Given the description of an element on the screen output the (x, y) to click on. 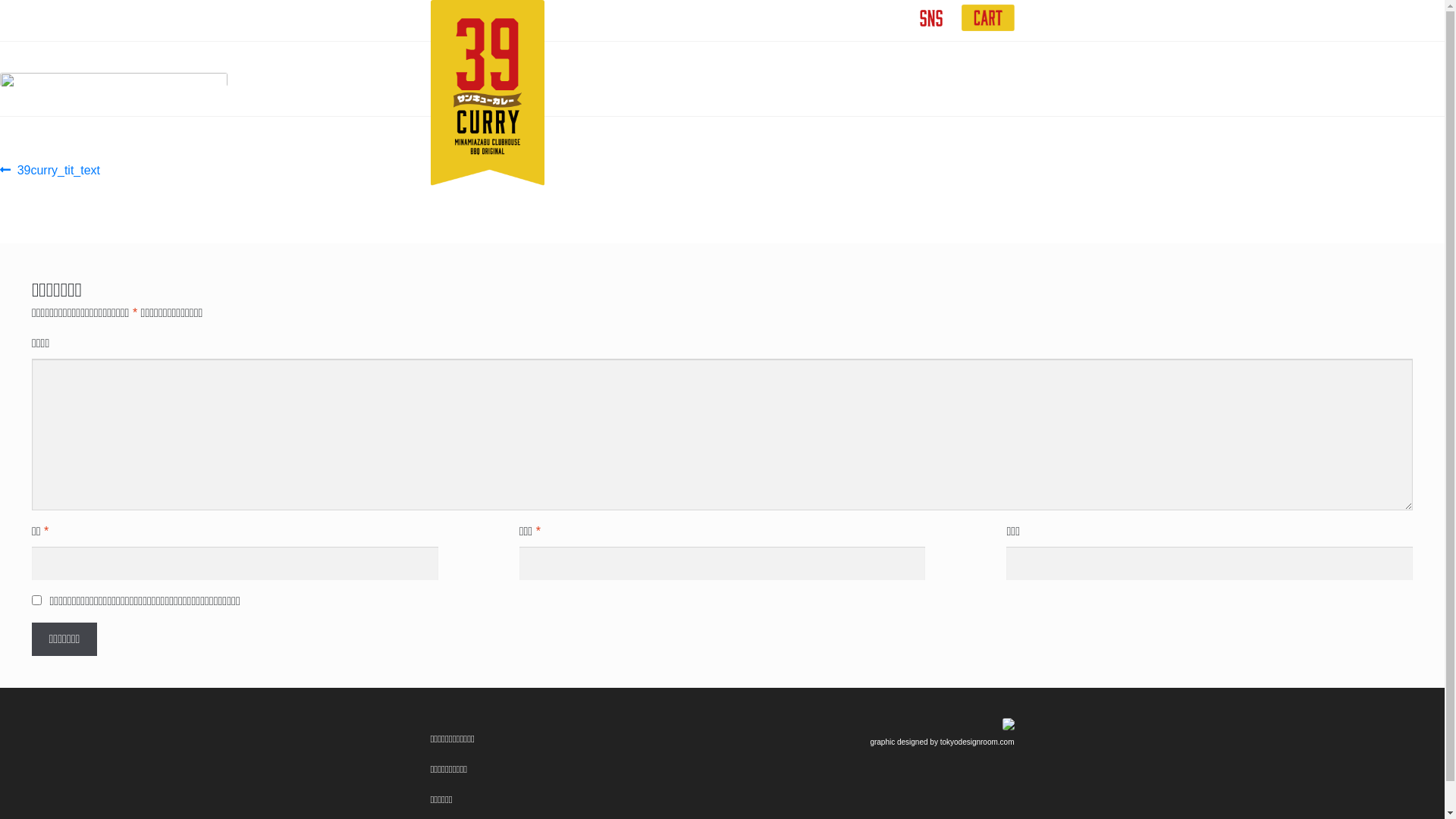
tokyodesignroom.com Element type: text (977, 741)
